Given the description of an element on the screen output the (x, y) to click on. 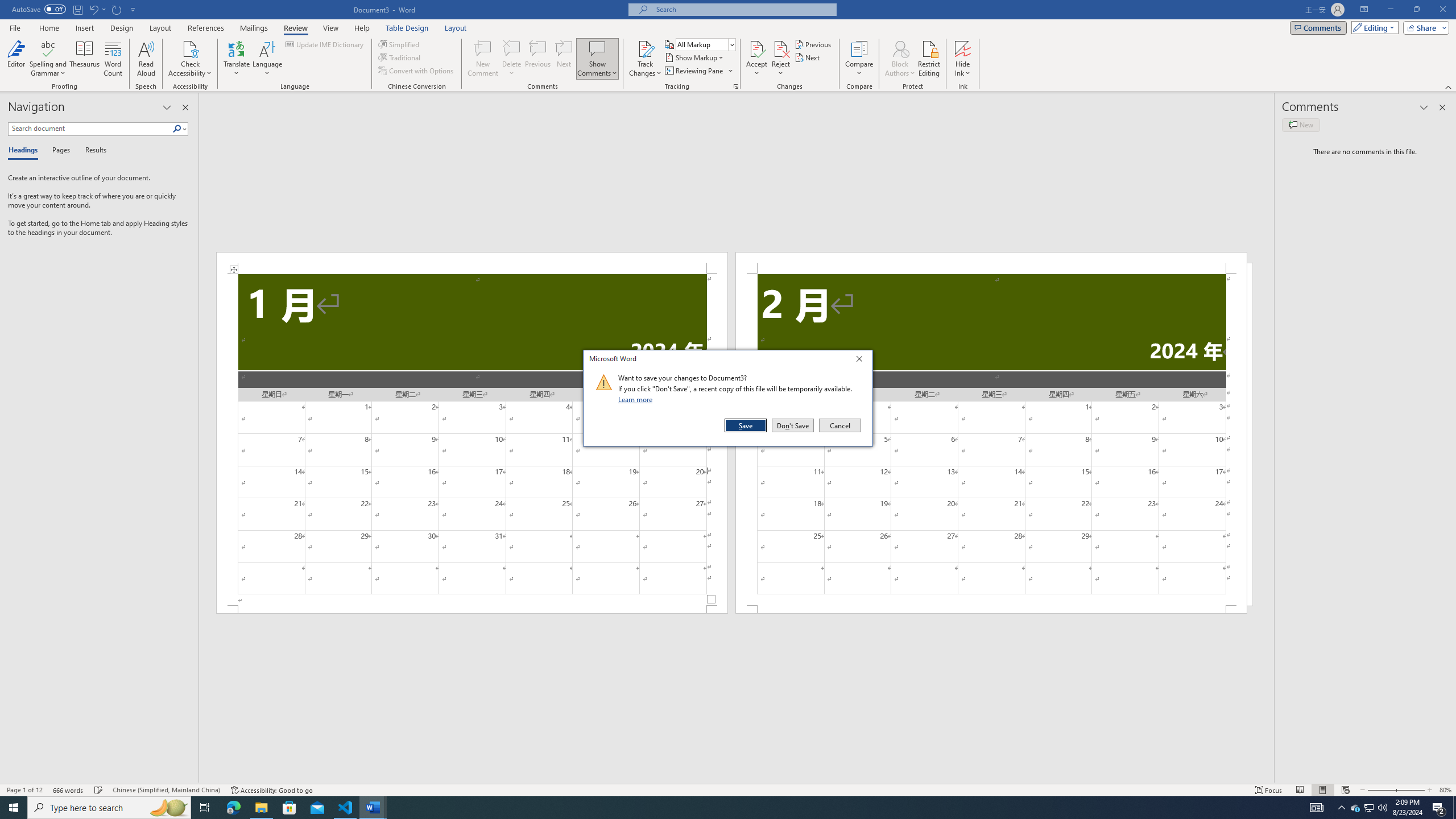
Show Comments (597, 48)
Display for Review (705, 44)
Reviewing Pane (694, 69)
Word - 2 running windows (373, 807)
Spelling and Grammar (48, 48)
Spelling and Grammar Check Checking (98, 790)
Hide Ink (962, 48)
Thesaurus... (84, 58)
Convert with Options... (417, 69)
Reviewing Pane (698, 69)
File Explorer - 1 running window (261, 807)
Footer -Section 2- (991, 609)
